Given the description of an element on the screen output the (x, y) to click on. 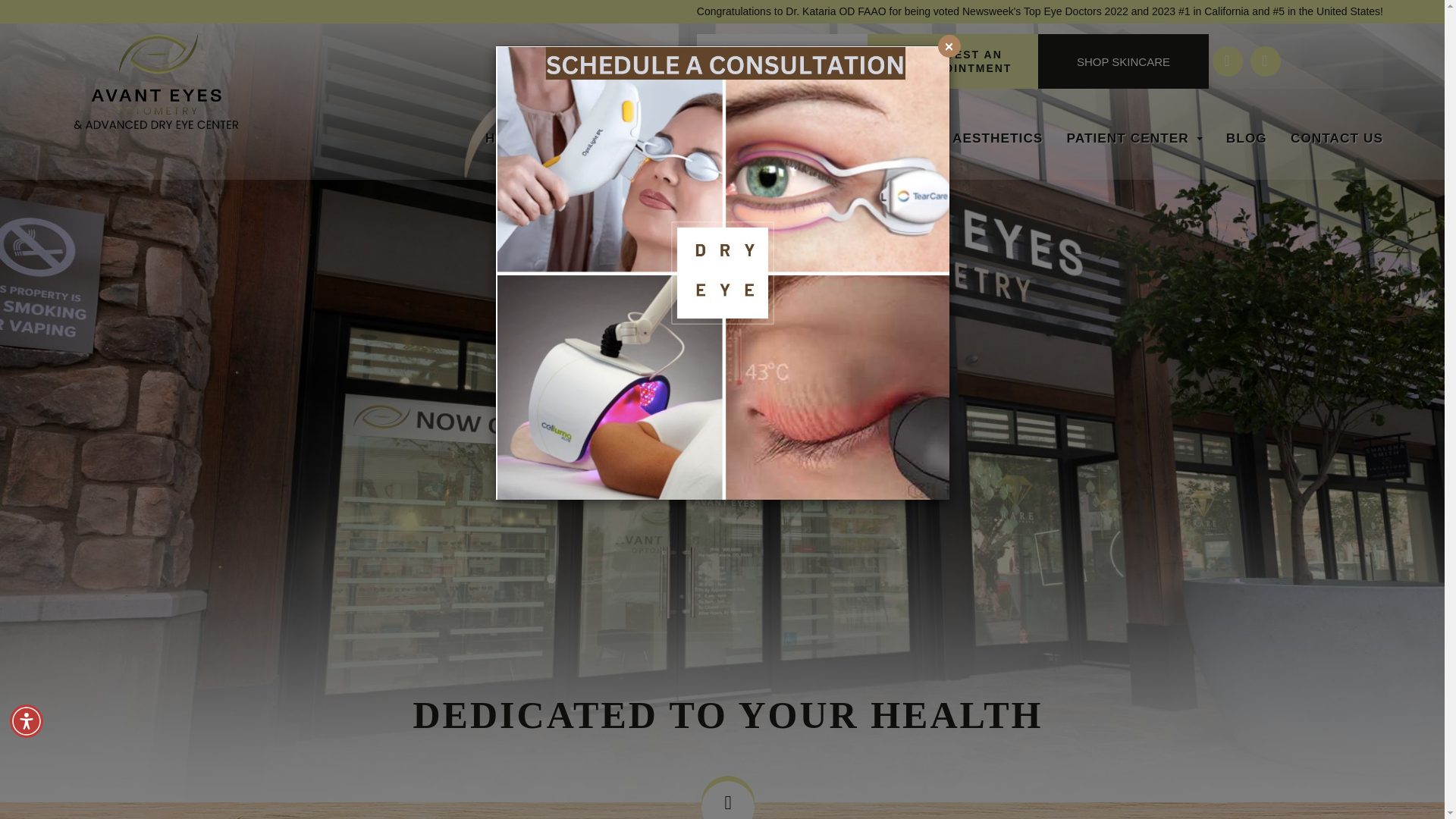
Accessibility Menu (26, 720)
